Given the description of an element on the screen output the (x, y) to click on. 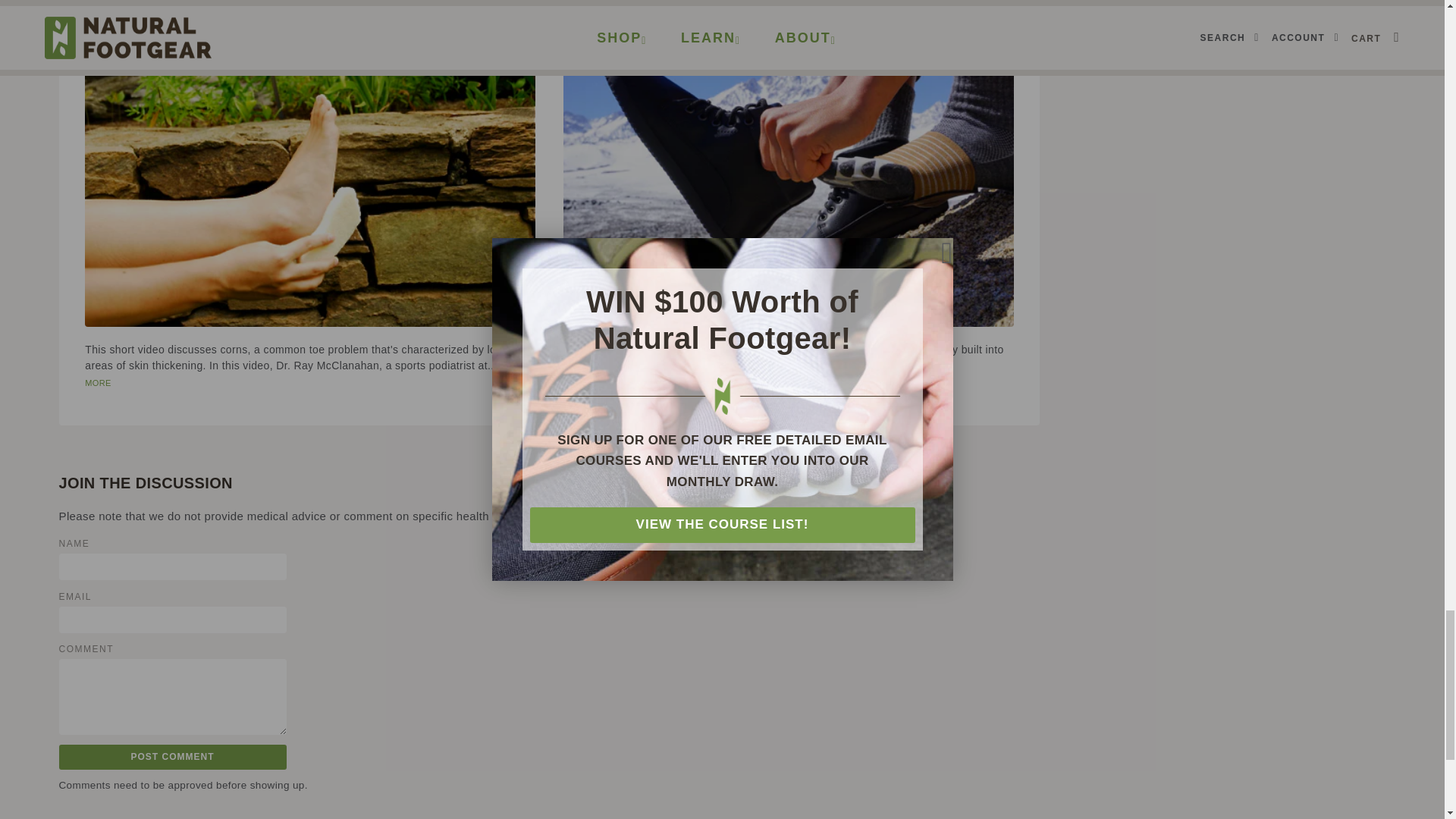
Post Comment (172, 756)
